Given the description of an element on the screen output the (x, y) to click on. 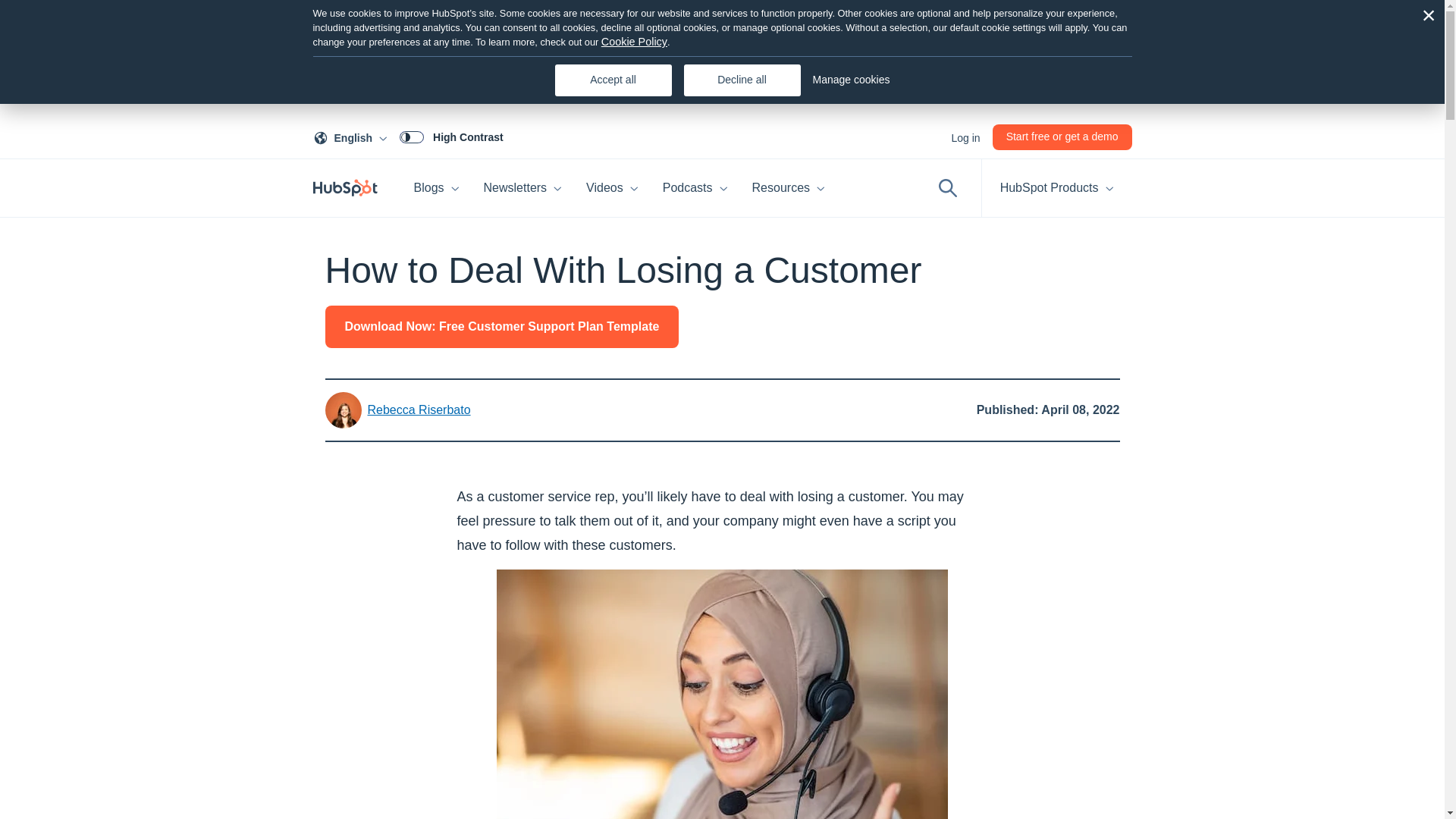
Blogs (436, 187)
Start free or get a demo (1062, 136)
Manage cookies (850, 80)
Newsletters (523, 187)
Decline all (742, 80)
Log in (964, 137)
High Contrast (353, 136)
Accept all (450, 137)
